Given the description of an element on the screen output the (x, y) to click on. 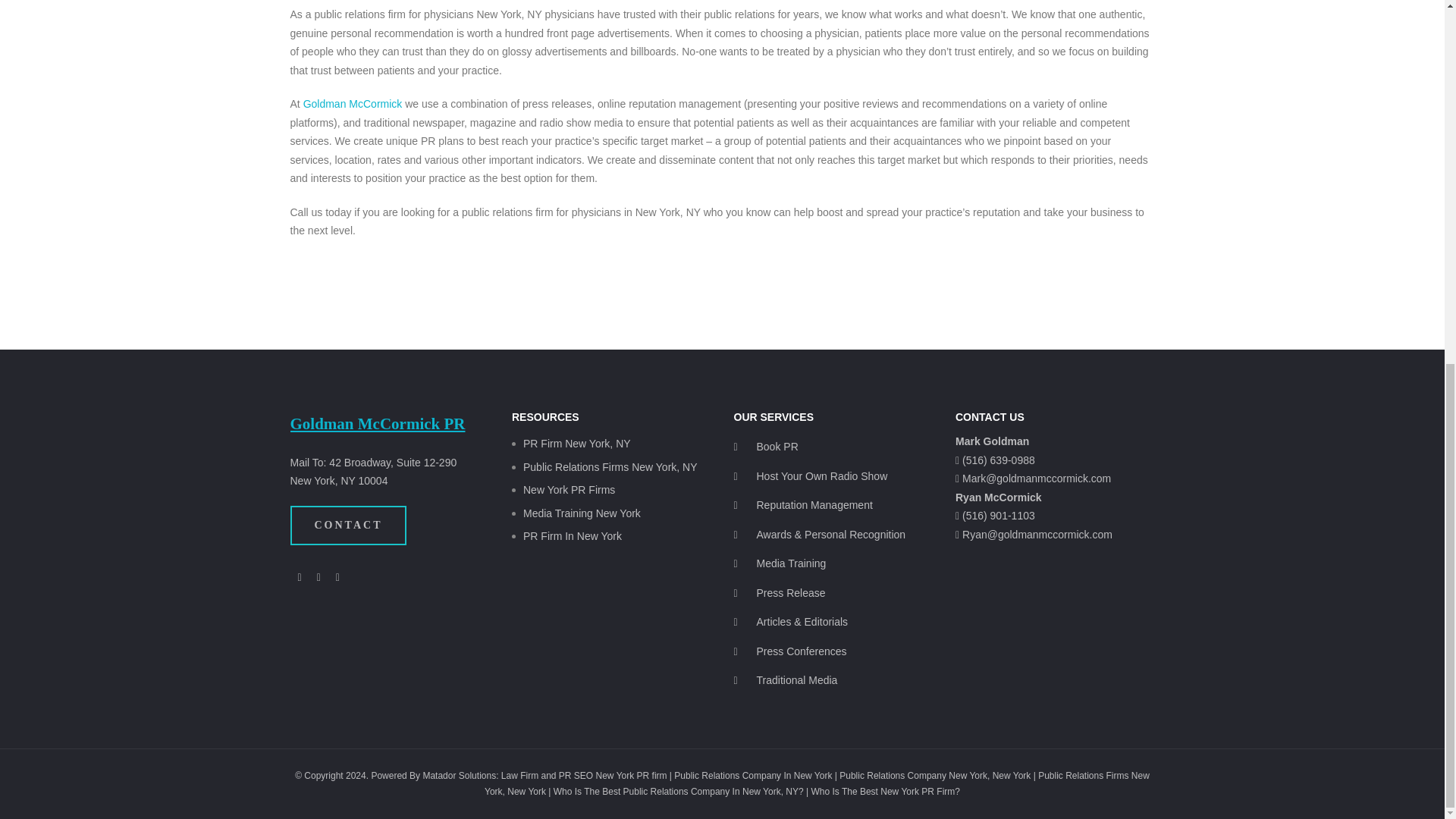
Traditional Media (785, 680)
CONTACT (347, 525)
Twitter (338, 577)
Press Conferences (790, 651)
Goldman McCormick (352, 103)
PR Firm New York, NY (576, 443)
Facebook (298, 577)
Book PR (765, 446)
Media Training (780, 563)
Host Your Own Radio Show (810, 476)
